Given the description of an element on the screen output the (x, y) to click on. 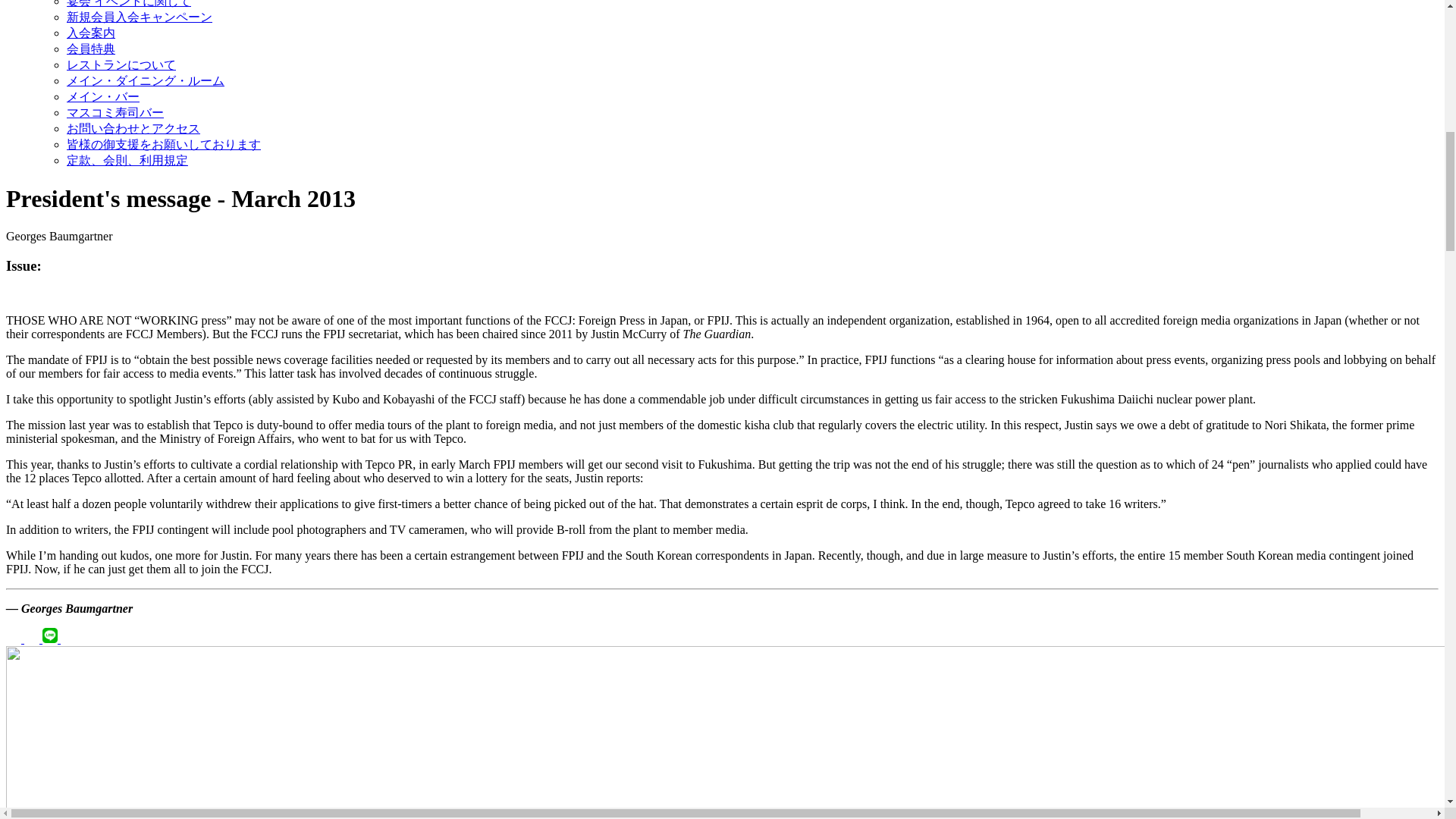
Share to E-mail (68, 638)
Share to Facebook (14, 638)
Share to Linkedin (33, 638)
Share to Line (51, 638)
